Given the description of an element on the screen output the (x, y) to click on. 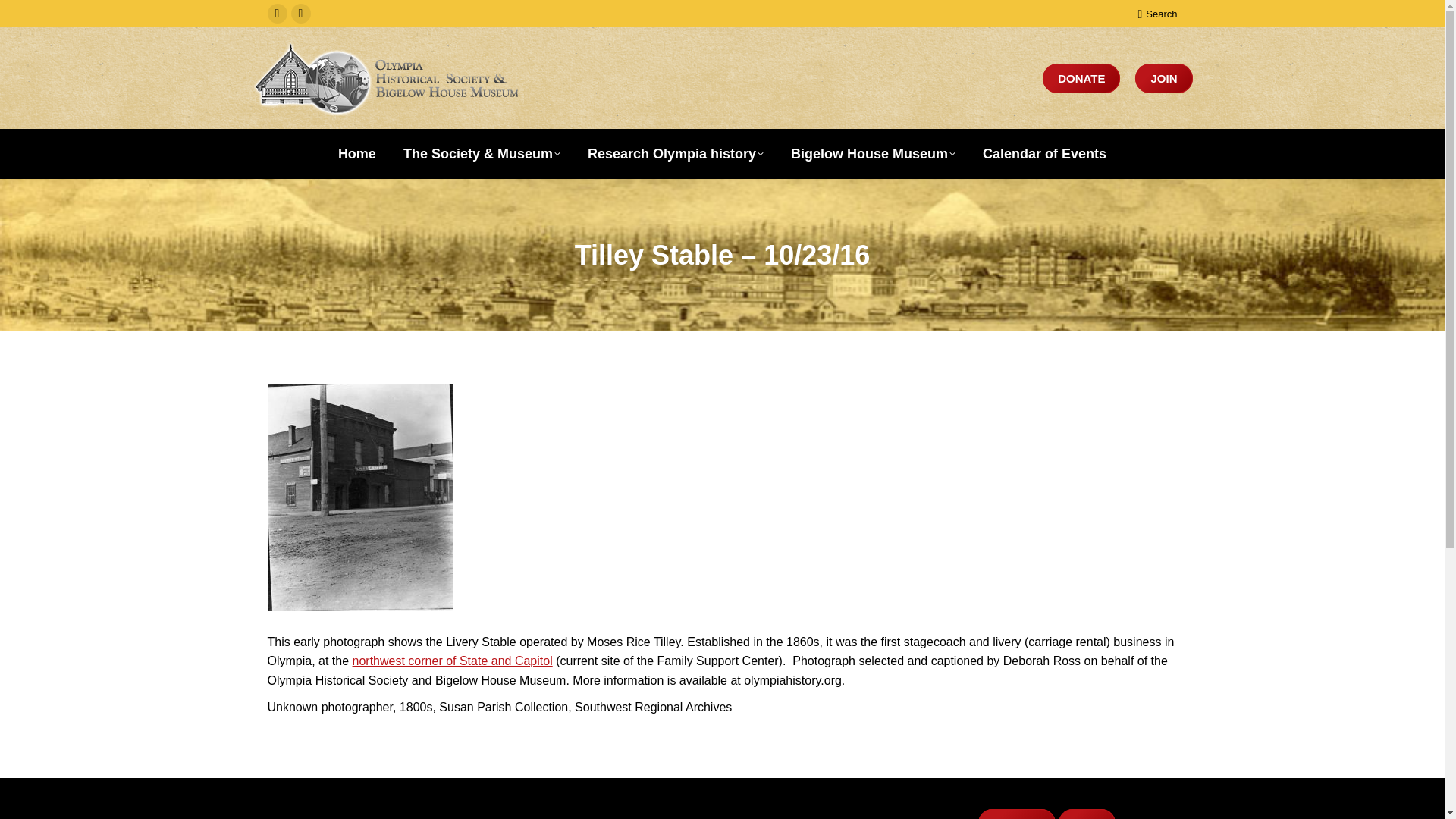
DONATE (1080, 78)
Facebook page opens in new window (276, 13)
Search (1156, 12)
X page opens in new window (301, 13)
X page opens in new window (301, 13)
Home (356, 153)
Go! (24, 16)
Research Olympia history (676, 153)
Facebook page opens in new window (276, 13)
JOIN (1163, 78)
